Given the description of an element on the screen output the (x, y) to click on. 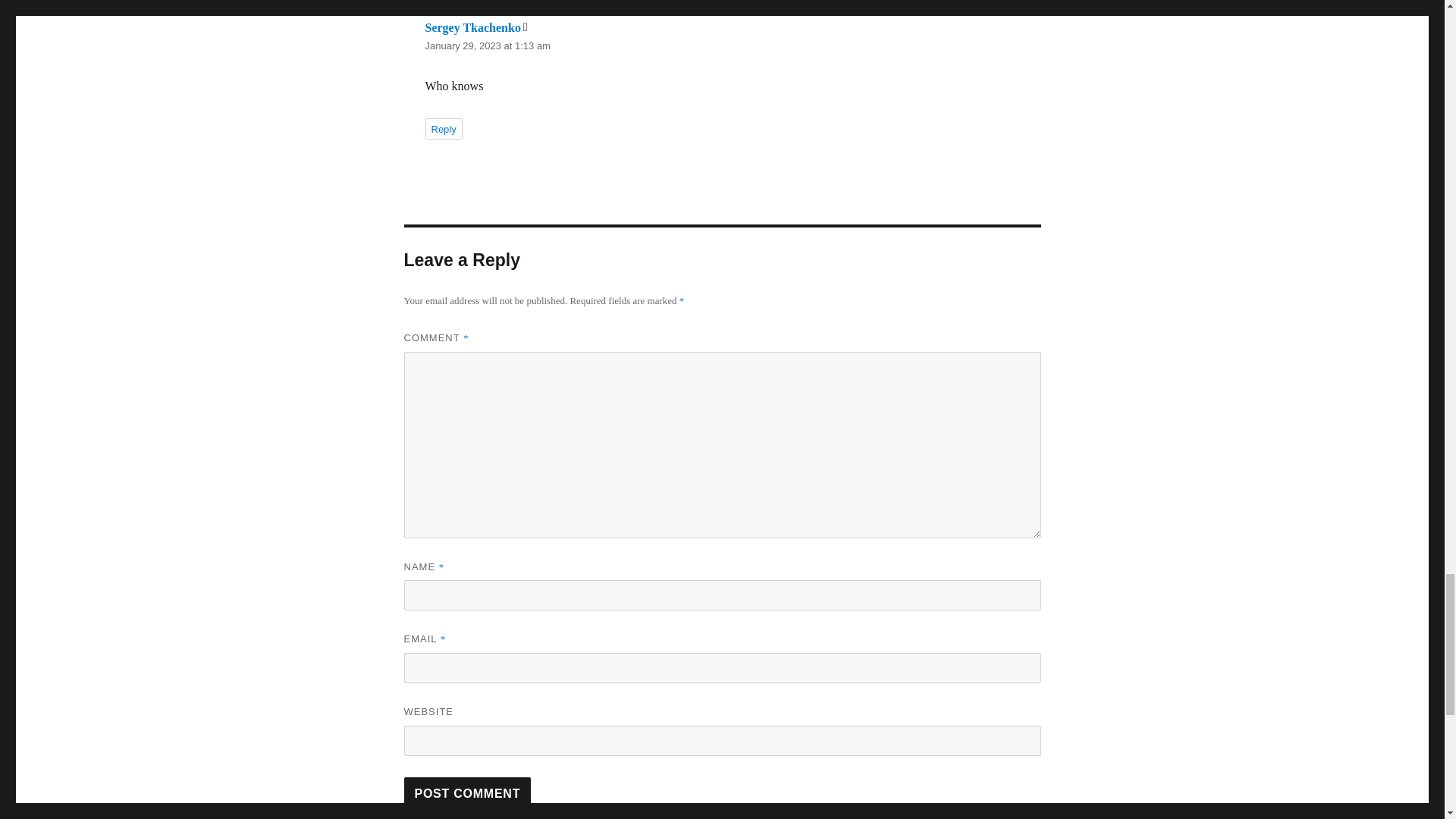
Reply (443, 128)
Post Comment (467, 793)
Sergey Tkachenko (472, 27)
January 29, 2023 at 1:13 am (487, 45)
Post Comment (467, 793)
